Given the description of an element on the screen output the (x, y) to click on. 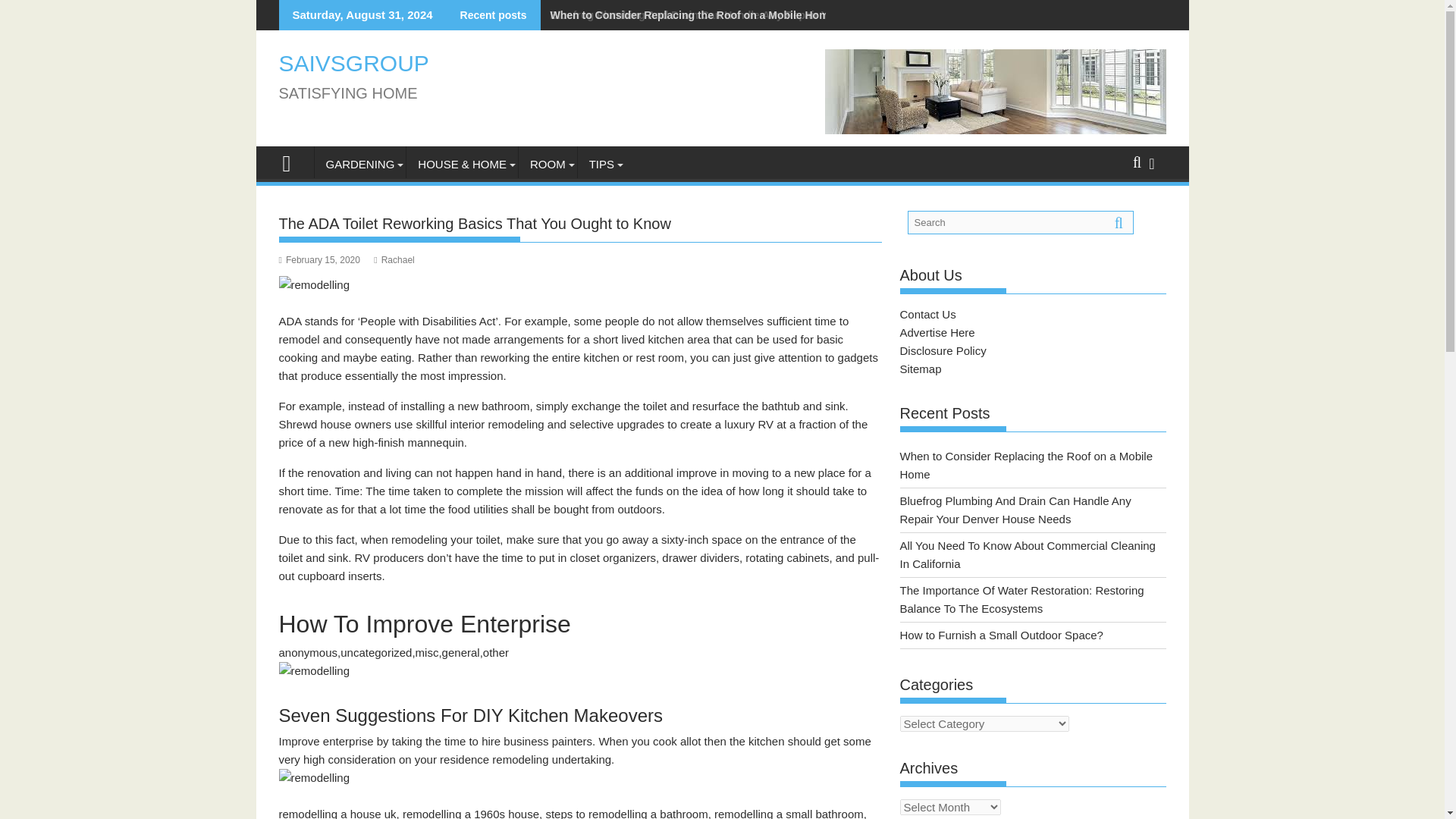
TIPS (602, 164)
When to Consider Replacing the Roof on a Mobile Home (687, 15)
SAIVSGROUP (293, 161)
SAIVSGROUP (354, 63)
ROOM (547, 164)
GARDENING (360, 164)
When to Consider Replacing the Roof on a Mobile Home (687, 15)
